Given the description of an element on the screen output the (x, y) to click on. 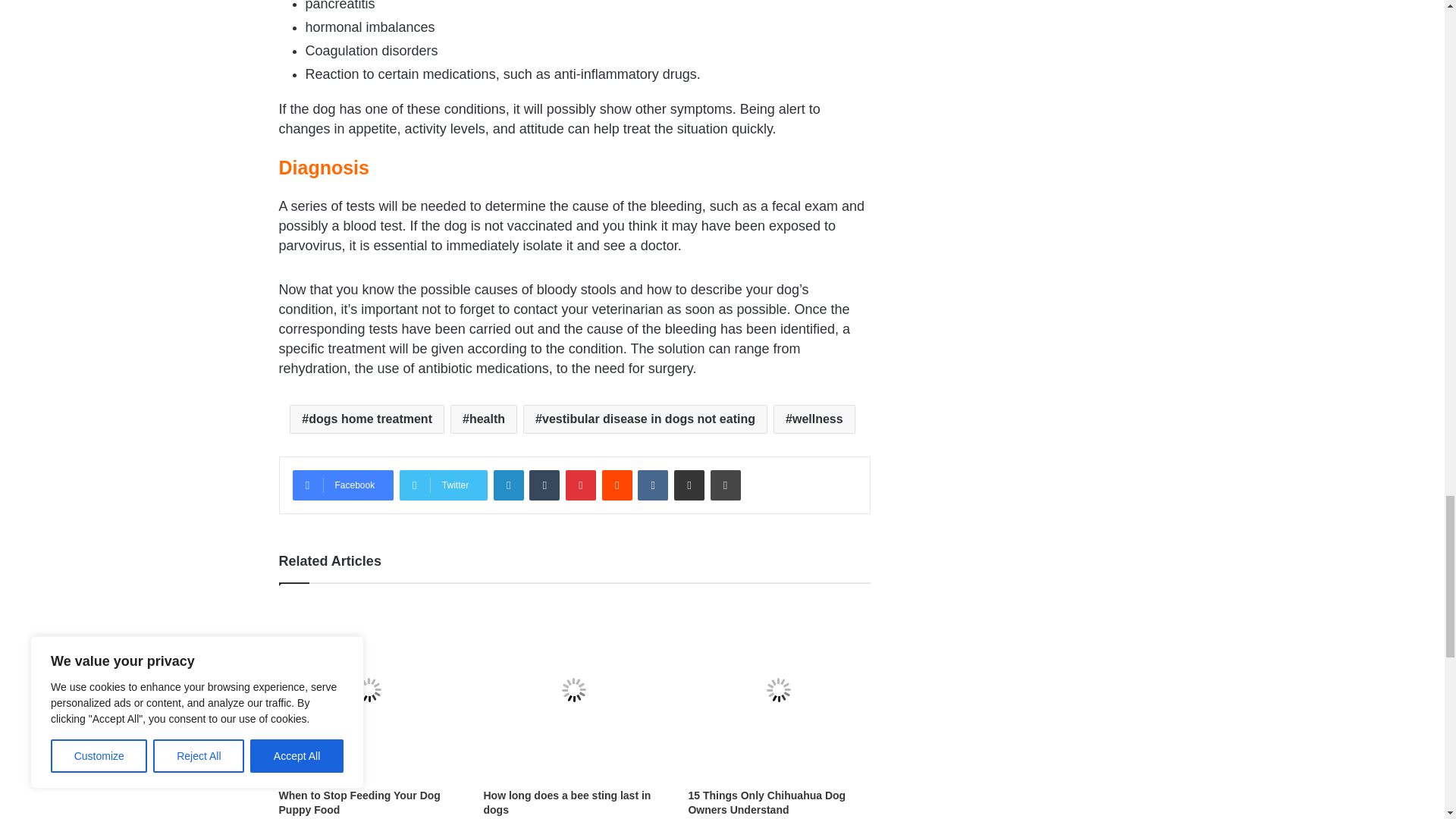
Facebook (343, 485)
dogs home treatment (366, 419)
